Given the description of an element on the screen output the (x, y) to click on. 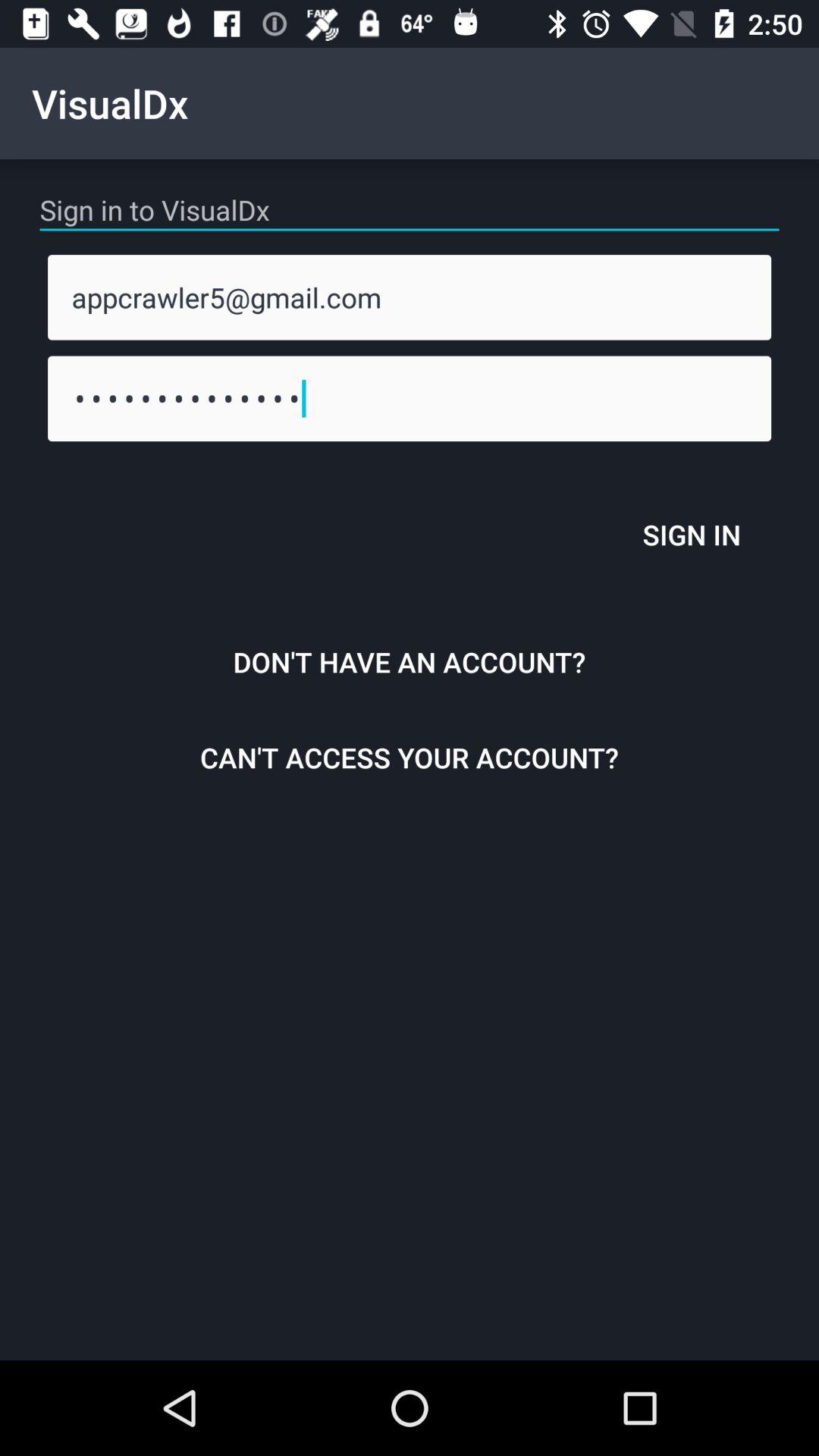
open icon above appcrawler3116 (409, 297)
